Given the description of an element on the screen output the (x, y) to click on. 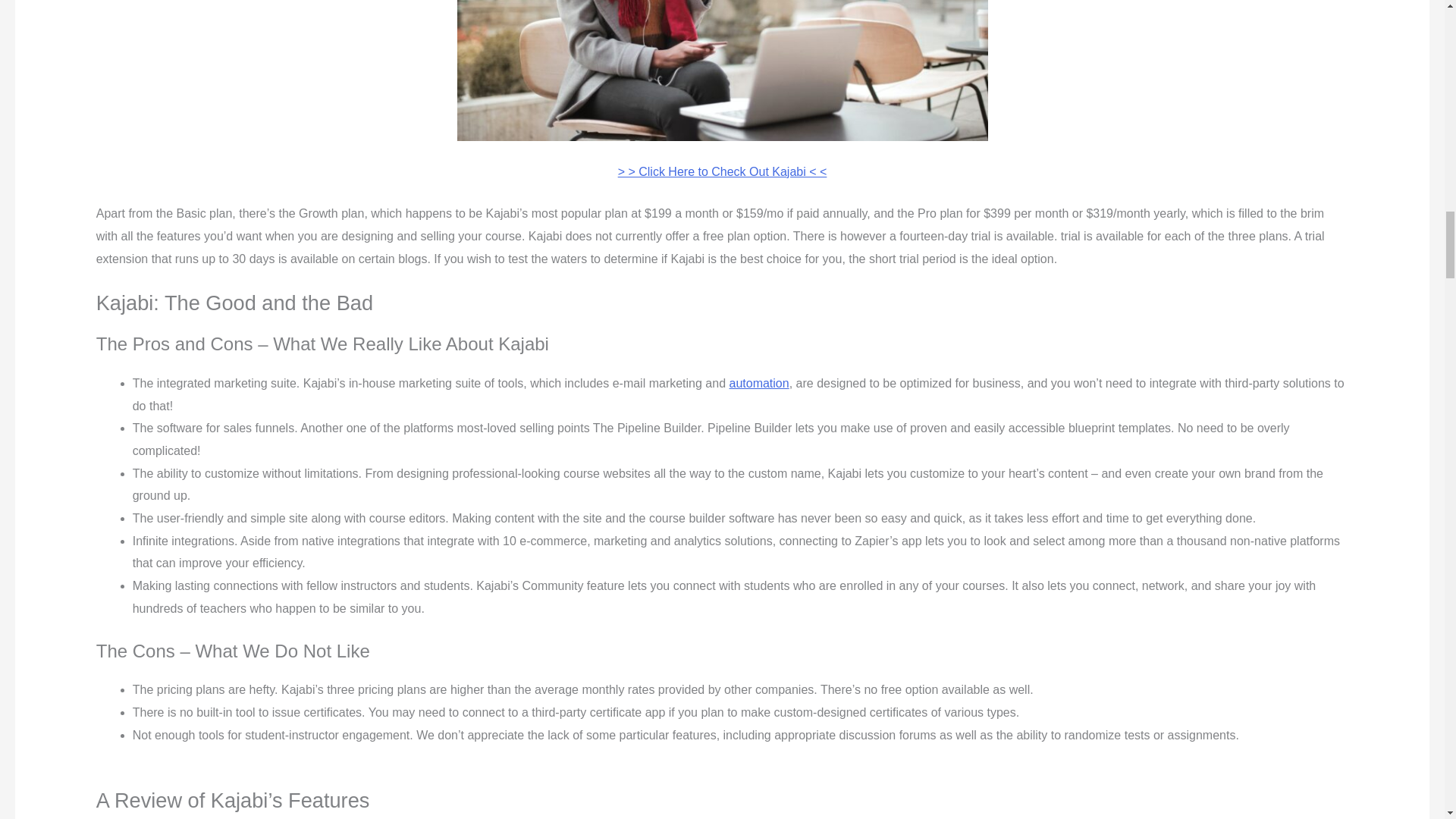
automation (759, 382)
